Given the description of an element on the screen output the (x, y) to click on. 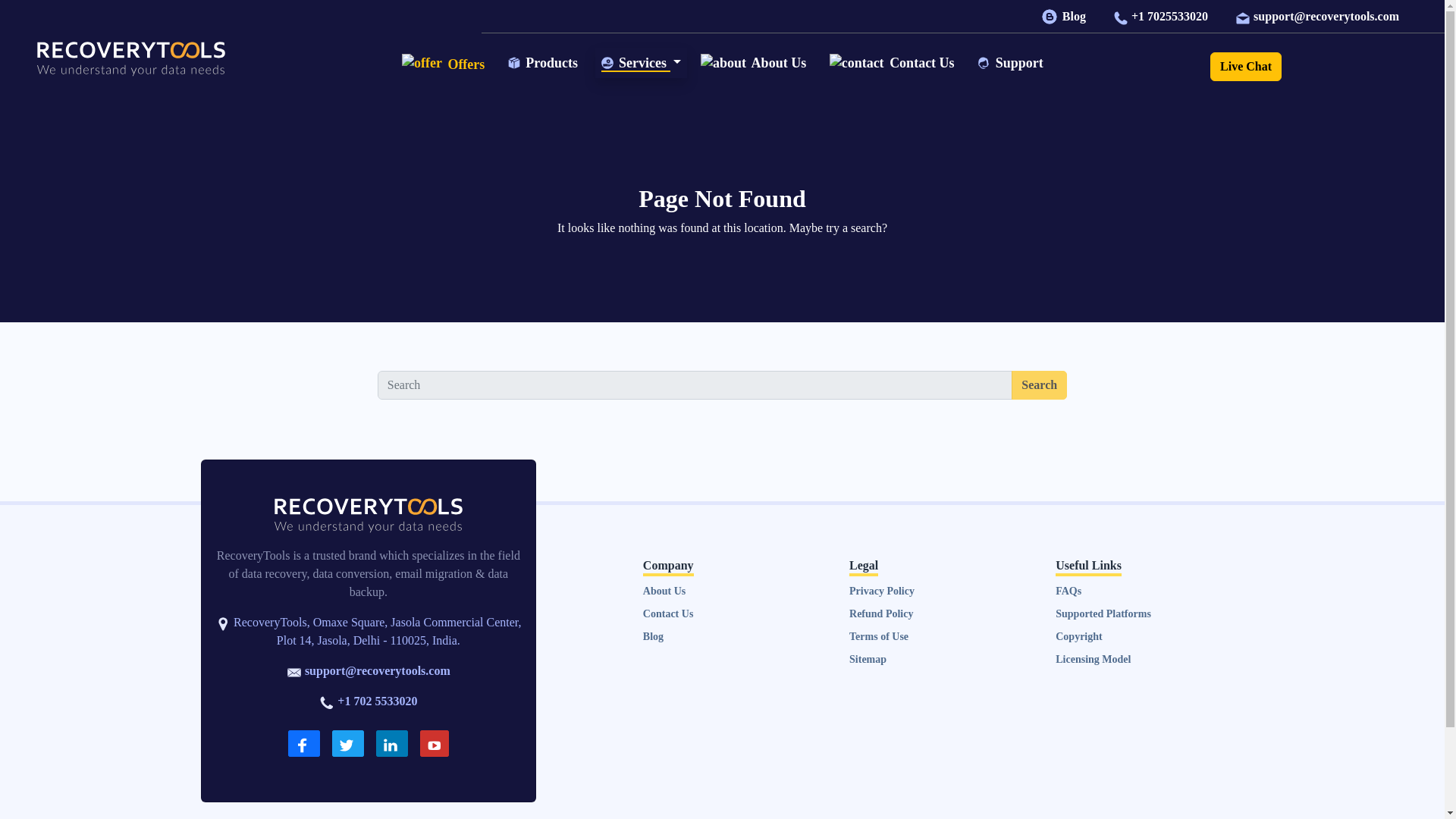
Products  (545, 62)
Privacy Policy (881, 591)
Copyright (1078, 636)
Refund Policy (880, 613)
FAQs (1068, 591)
Sitemap (867, 659)
About Us (664, 591)
Blog (653, 636)
Supported Platforms (1103, 613)
Support  (1011, 62)
About Us  (754, 63)
Licensing Model (1093, 659)
Live Chat (1245, 65)
Contact Us  (893, 63)
Contact Us (668, 613)
